Given the description of an element on the screen output the (x, y) to click on. 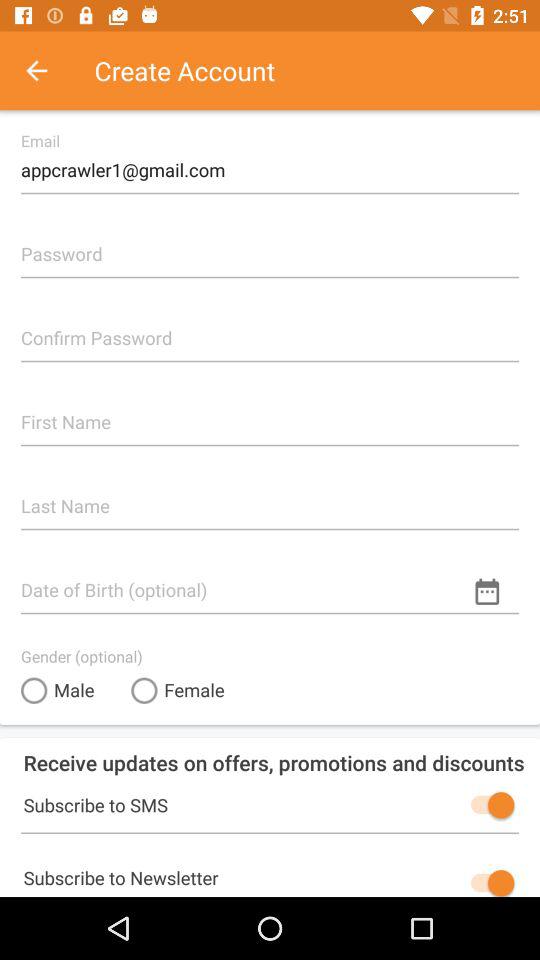
scroll to the female (177, 690)
